Given the description of an element on the screen output the (x, y) to click on. 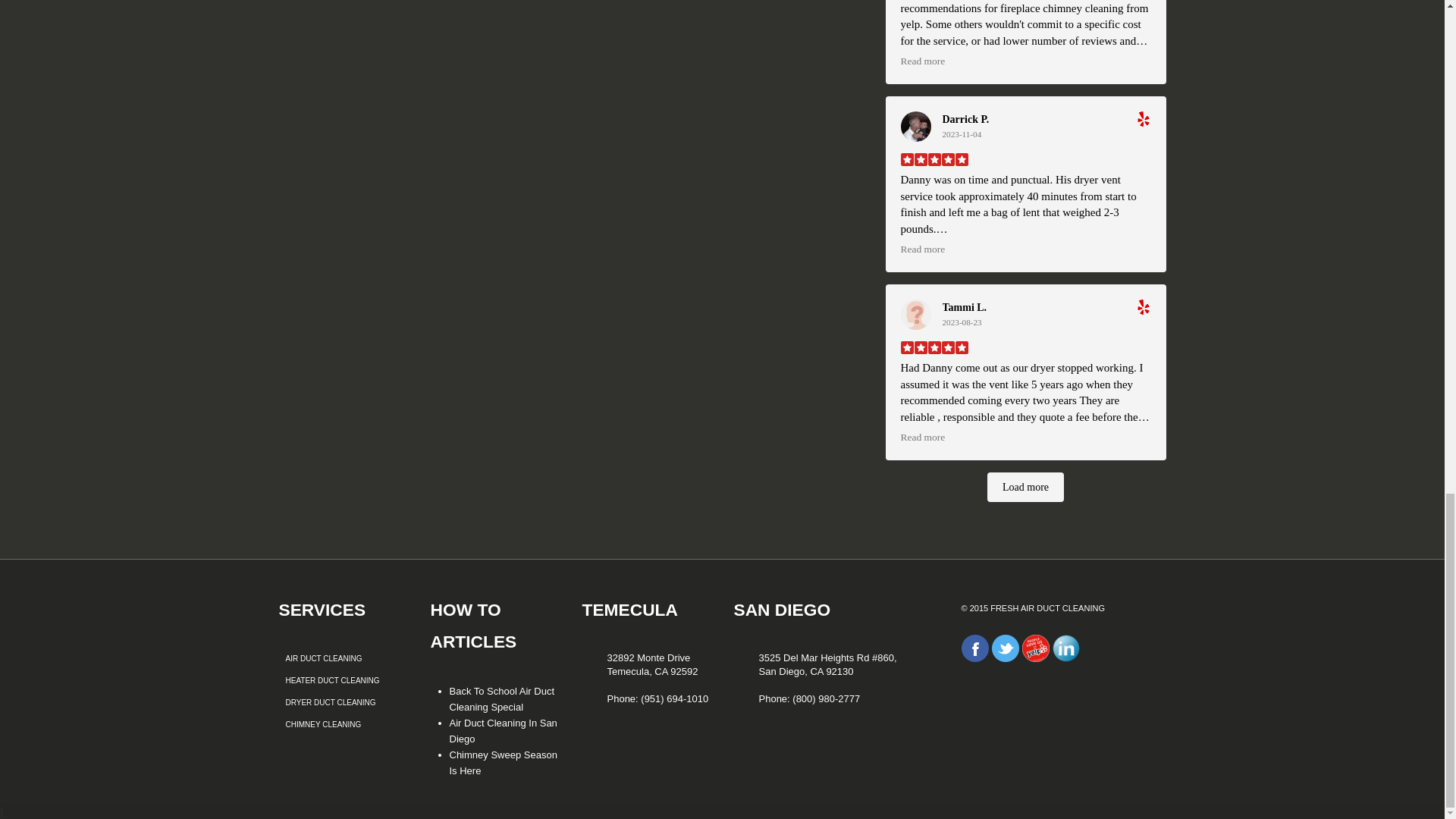
HEATER DUCT CLEANING (331, 680)
DRYER DUCT CLEANING (330, 702)
CHIMNEY CLEANING (323, 724)
Back To School Air Duct Cleaning Special (501, 698)
AIR DUCT CLEANING (323, 658)
